Given the description of an element on the screen output the (x, y) to click on. 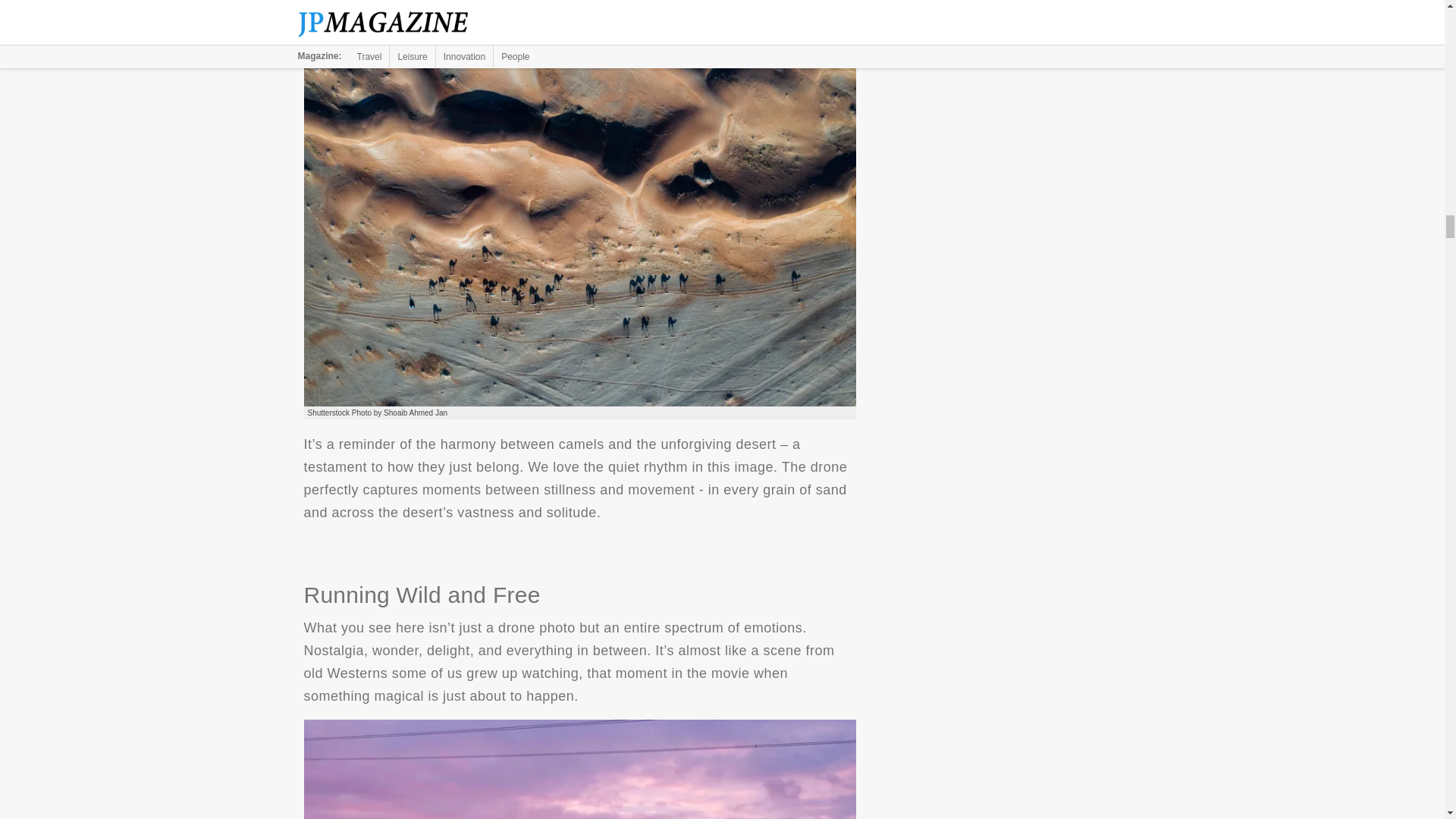
Running Wild and Free (579, 769)
